Given the description of an element on the screen output the (x, y) to click on. 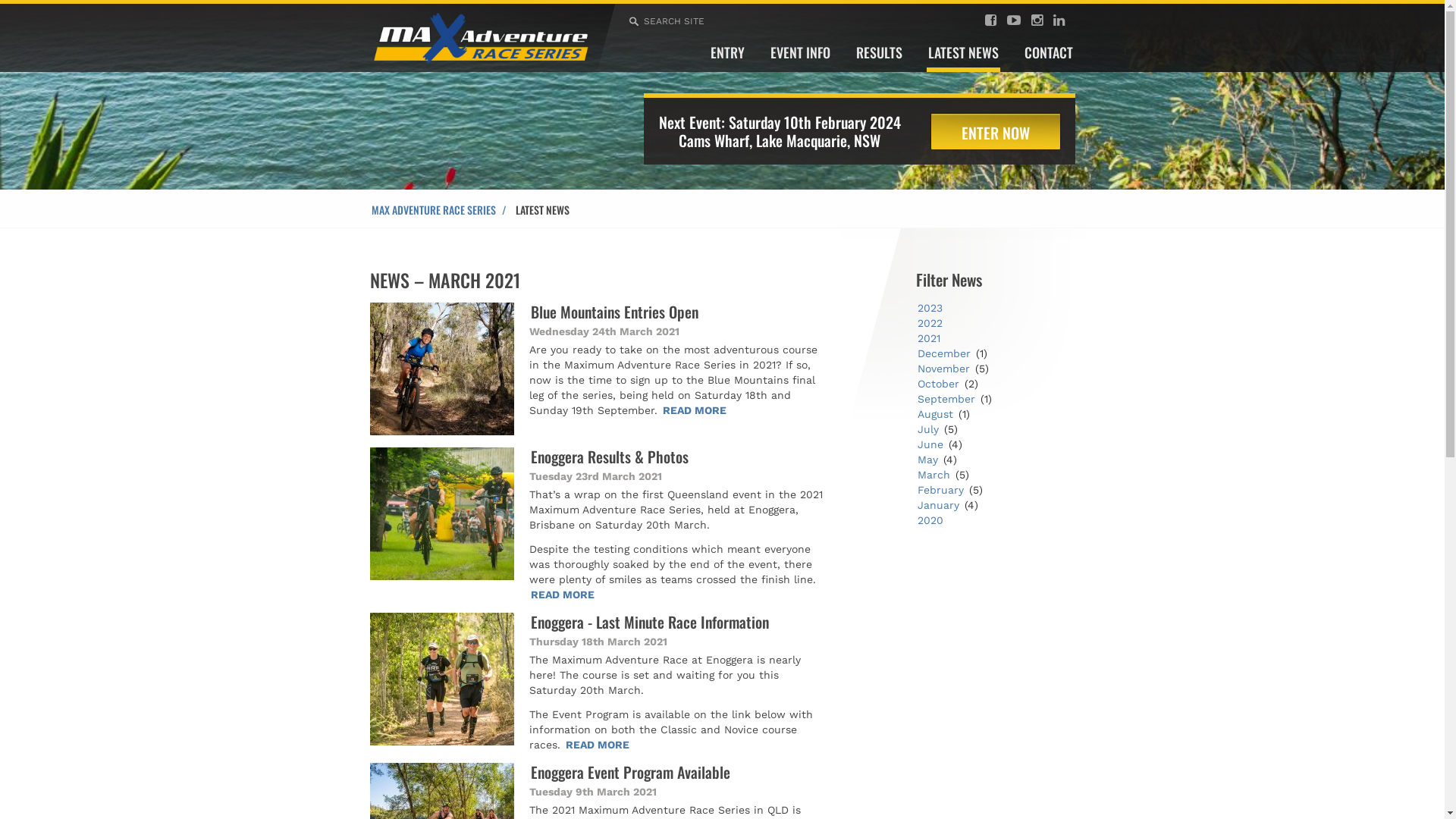
RESULTS Element type: text (878, 57)
2020 Element type: text (930, 520)
November Element type: text (943, 368)
2022 Element type: text (930, 322)
January Element type: text (938, 504)
ENTER NOW Element type: text (995, 131)
MARGLE19-0440-2 Element type: hover (442, 368)
March Element type: text (933, 474)
CONTACT Element type: text (1048, 57)
2021 Element type: text (928, 338)
Enoggera Results & Photos Element type: text (609, 456)
READ MORE Element type: text (597, 744)
Enoggera - Last Minute Race Information Element type: text (649, 621)
July Element type: text (928, 429)
August Element type: text (935, 413)
Blue Mountains Entries Open Element type: text (614, 311)
December Element type: text (944, 353)
LATEST NEWS Element type: text (963, 57)
Enoggera Event Program Available Element type: text (630, 771)
2023 Element type: text (930, 307)
Max Adventure Race Series Element type: hover (481, 34)
Skip to content Element type: text (368, 71)
READ MORE Element type: text (562, 594)
May Element type: text (927, 459)
MAX ADVENTURE RACE SERIES Element type: text (442, 209)
EVENT INFO Element type: text (799, 57)
READ MORE Element type: text (694, 410)
Go Element type: text (11, 8)
February Element type: text (940, 489)
ENTRY Element type: text (727, 57)
LR2_8955 Element type: hover (442, 678)
June Element type: text (930, 444)
October Element type: text (938, 383)
September Element type: text (946, 398)
